Given the description of an element on the screen output the (x, y) to click on. 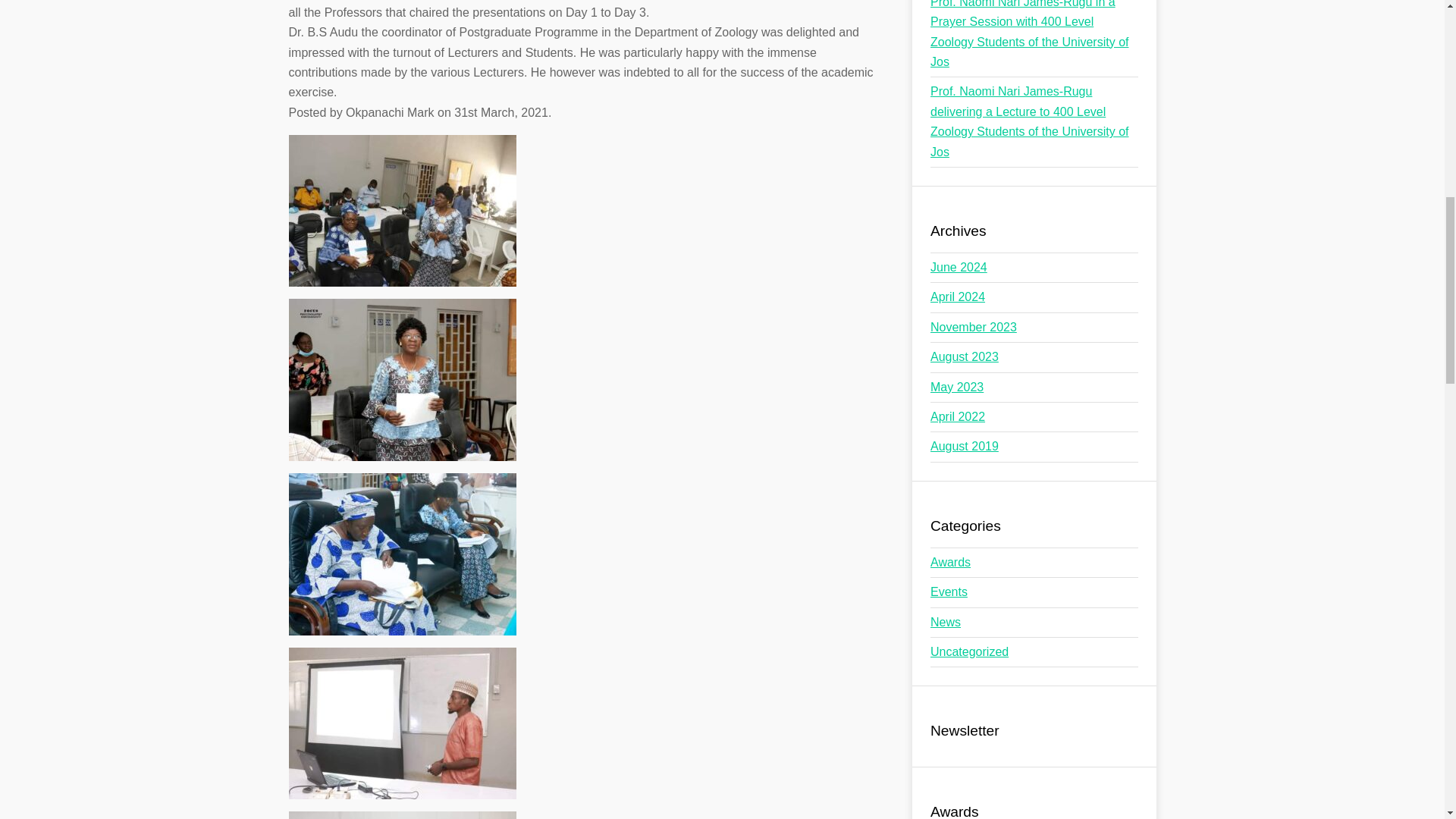
November 2023 (973, 327)
Events (949, 591)
Awards (950, 562)
April 2024 (957, 296)
August 2023 (964, 356)
Uncategorized (969, 651)
May 2023 (957, 386)
June 2024 (958, 267)
News (945, 621)
April 2022 (957, 416)
August 2019 (964, 445)
